Given the description of an element on the screen output the (x, y) to click on. 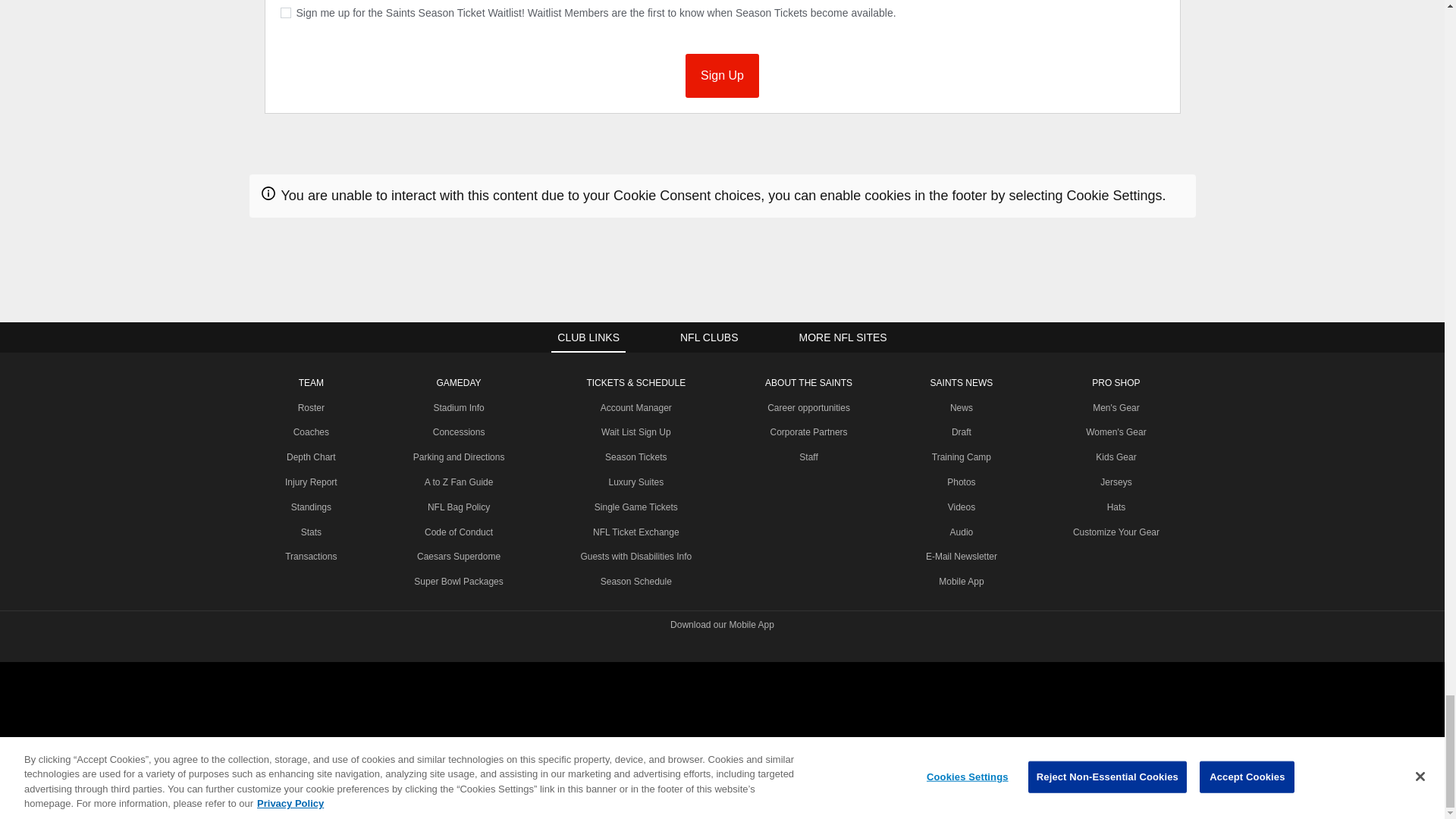
Sign Up (721, 75)
